Given the description of an element on the screen output the (x, y) to click on. 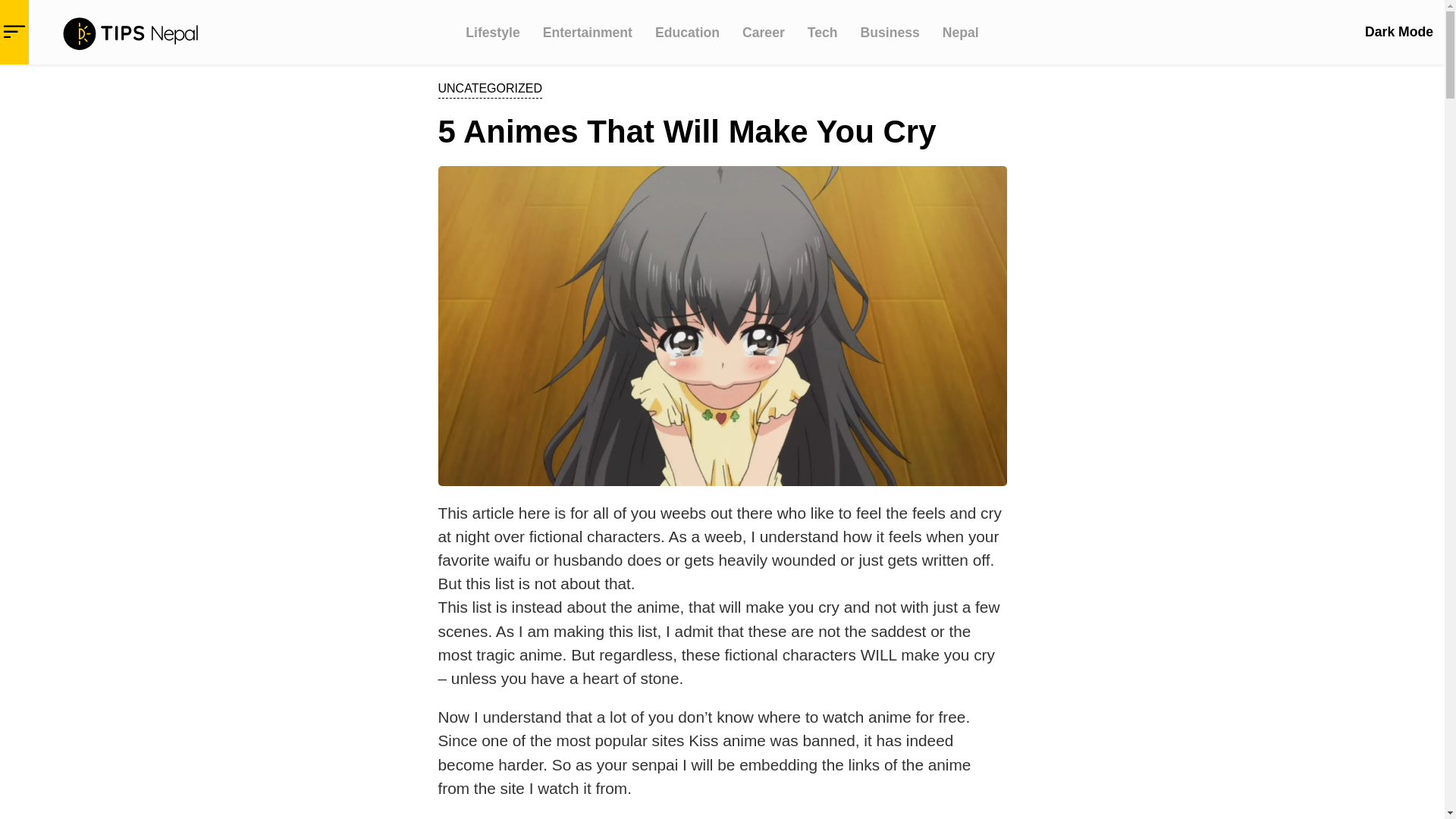
Lifestyle (492, 32)
UNCATEGORIZED (489, 88)
Education (687, 32)
Career (763, 32)
Entertainment (587, 32)
Business (890, 32)
